Given the description of an element on the screen output the (x, y) to click on. 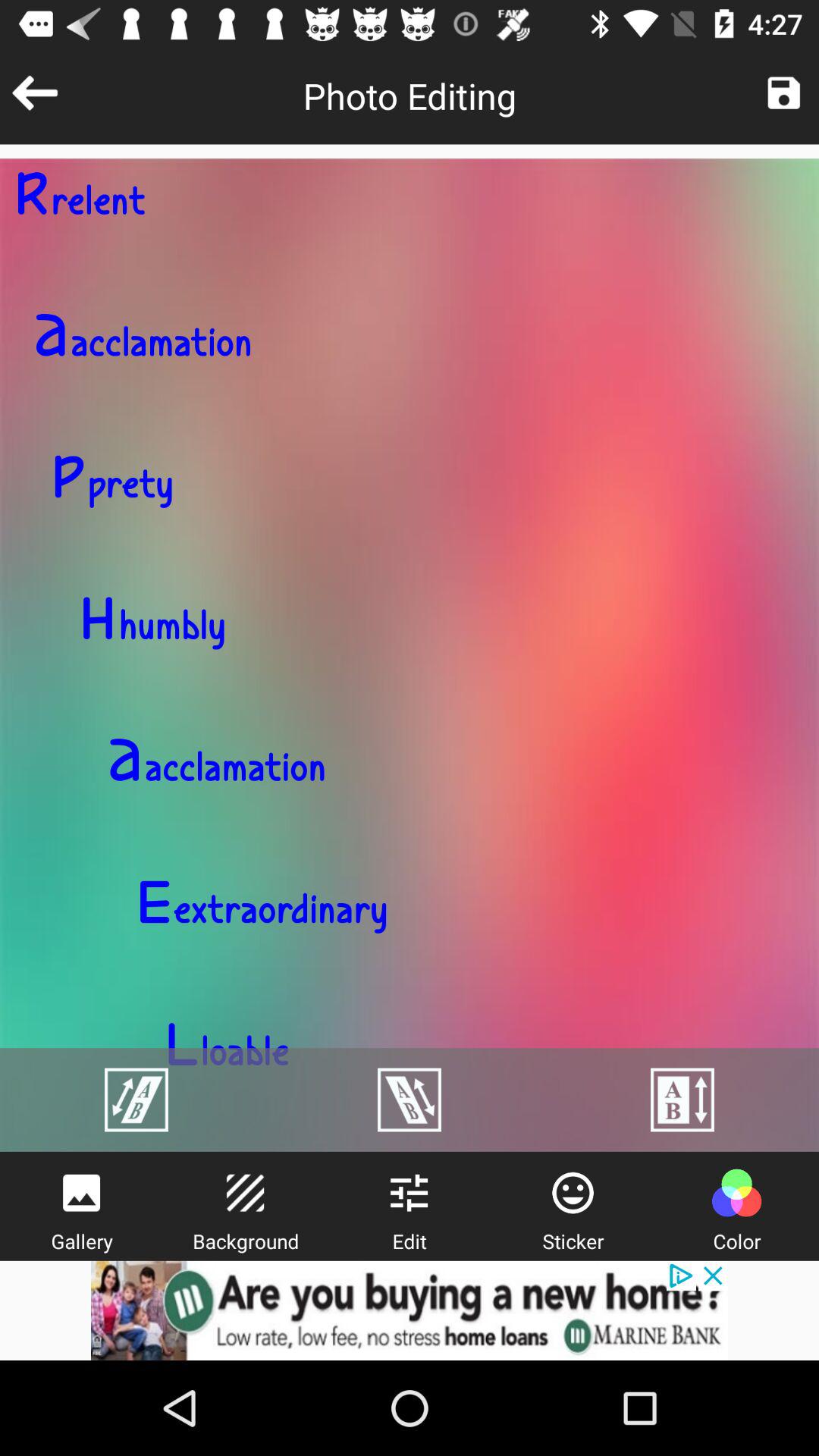
go to back ground opsino (245, 1192)
